Given the description of an element on the screen output the (x, y) to click on. 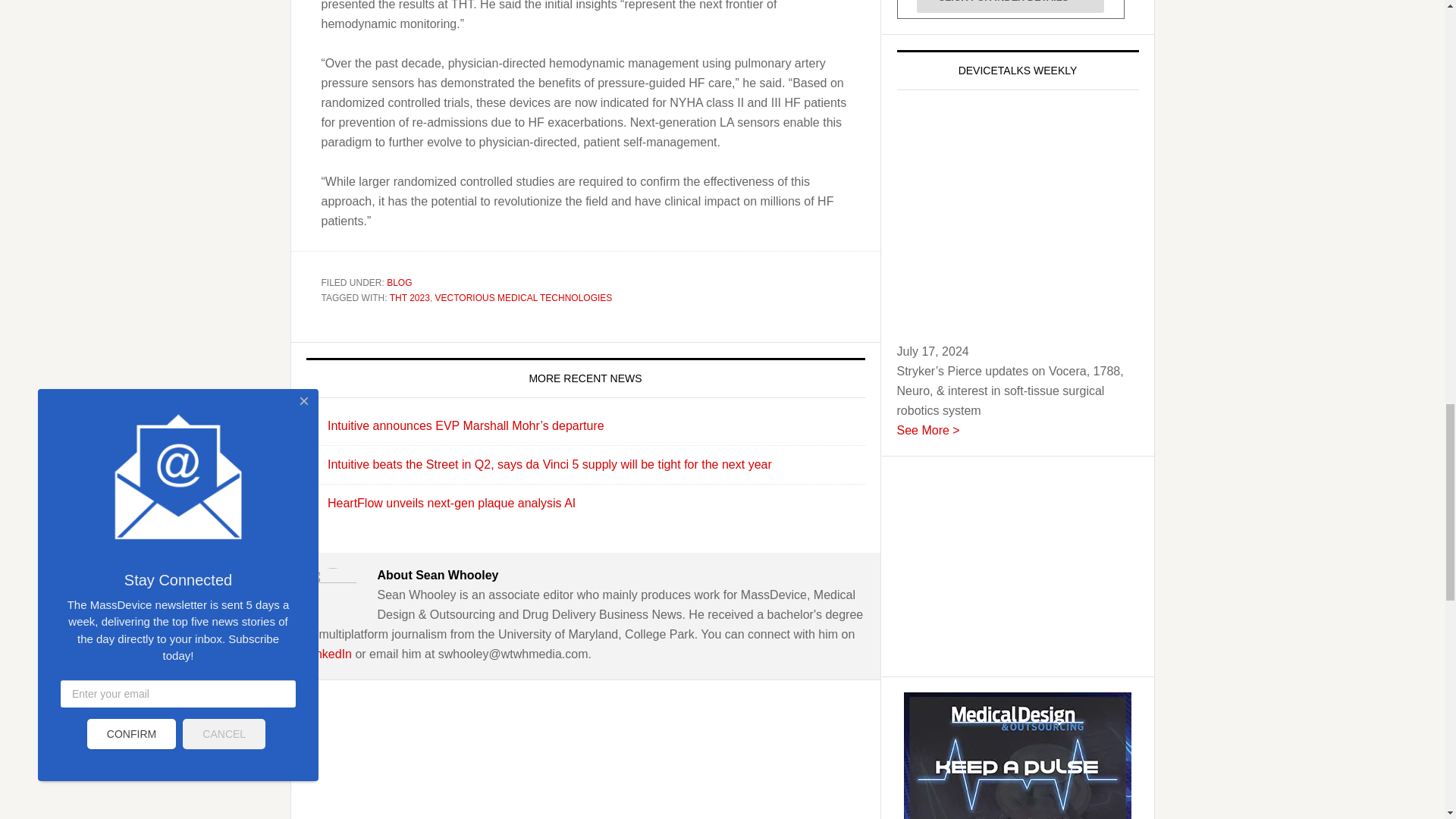
3rd party ad content (1010, 565)
